Given the description of an element on the screen output the (x, y) to click on. 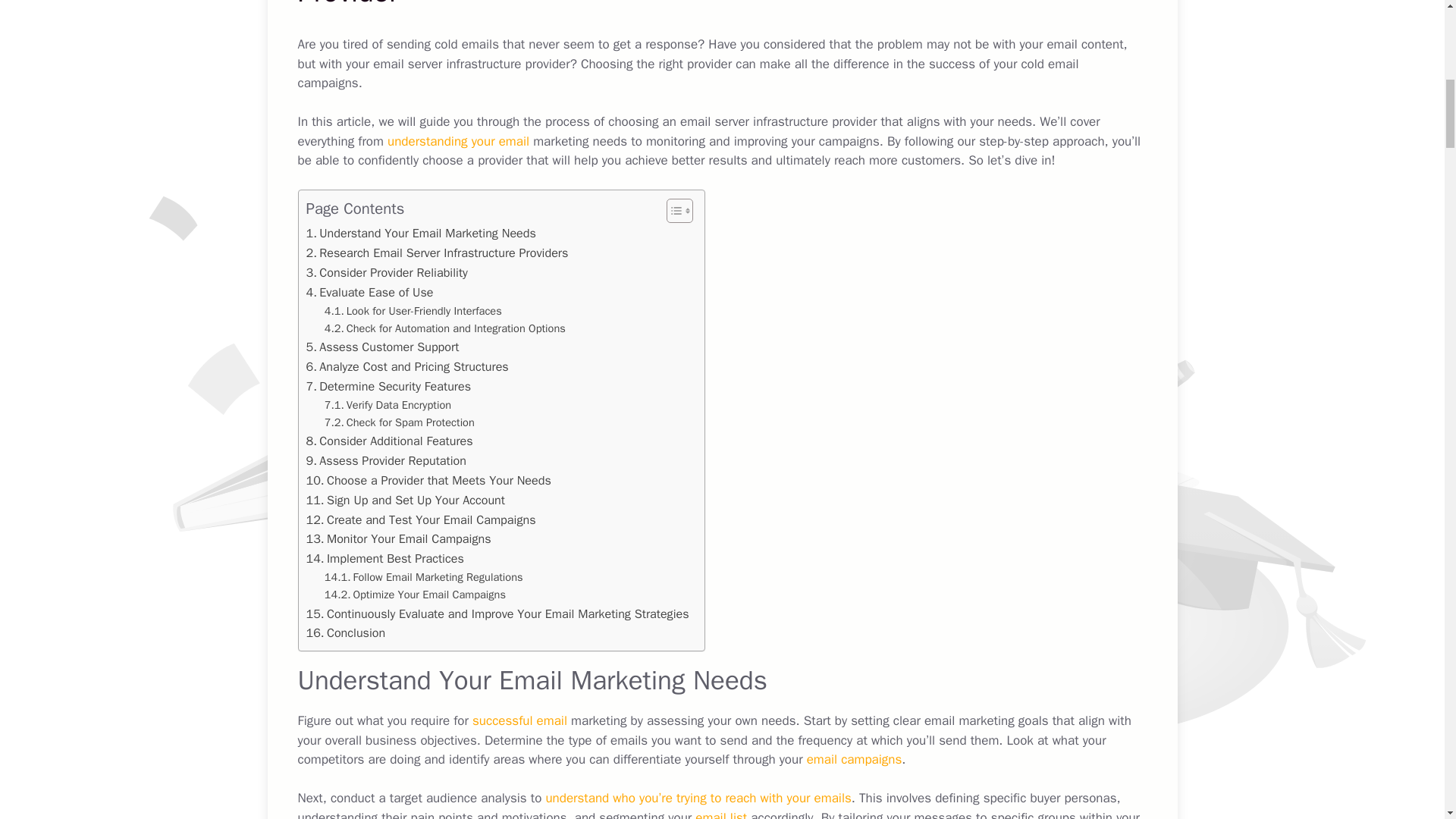
Evaluate Ease of Use (369, 292)
Assess Provider Reputation (385, 460)
Analyze Cost and Pricing Structures (406, 366)
Optimize Your Email Campaigns (414, 594)
understanding your email (458, 141)
Verify Data Encryption (387, 405)
Monitor Your Email Campaigns (398, 538)
Consider Provider Reliability (386, 272)
Create and Test Your Email Campaigns (420, 519)
email campaigns (854, 759)
Determine Security Features (388, 386)
Check for Automation and Integration Options (445, 328)
Follow Email Marketing Regulations (423, 577)
Consider Provider Reliability (386, 272)
